Given the description of an element on the screen output the (x, y) to click on. 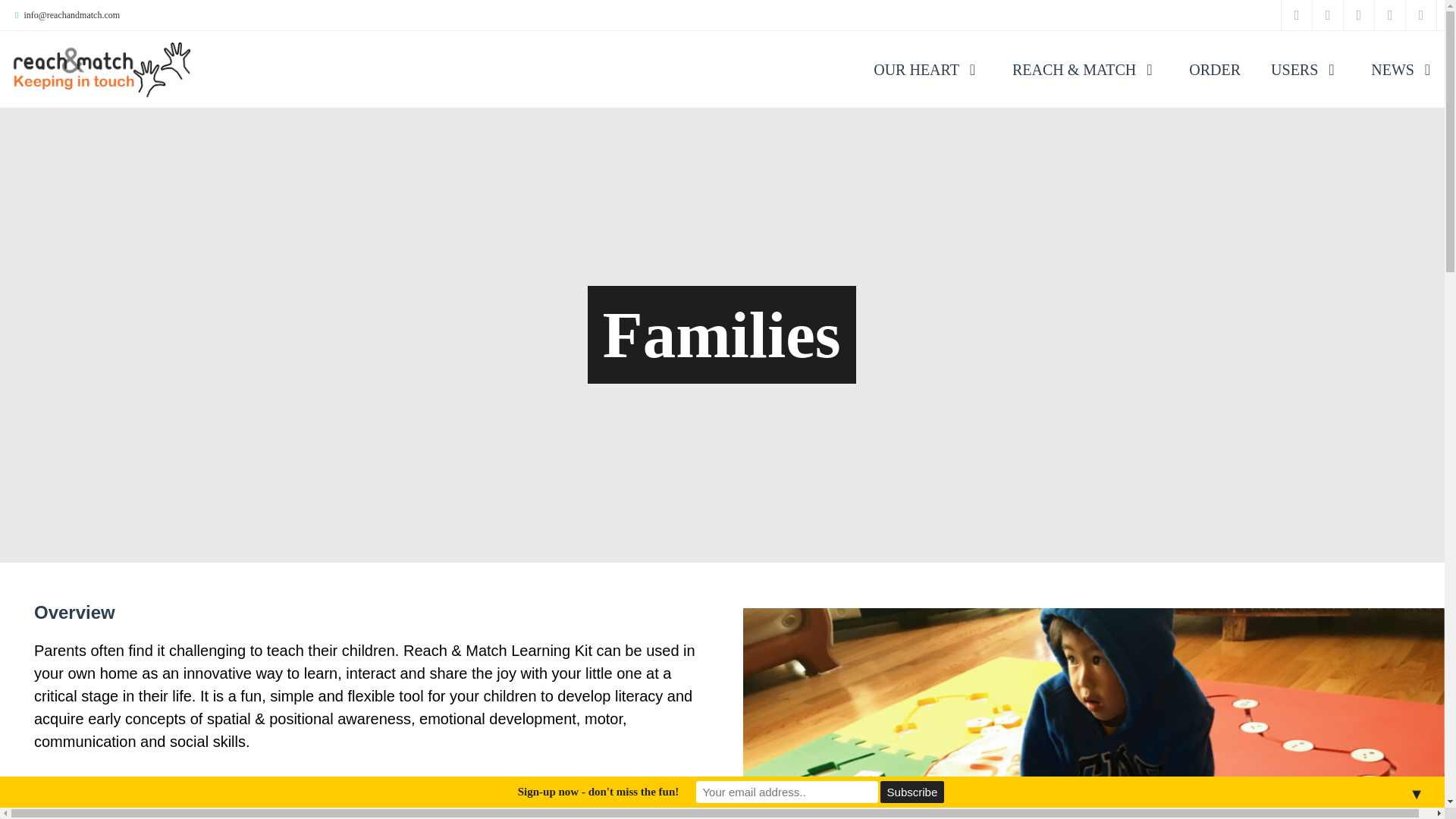
USERS (1305, 55)
Subscribe (911, 792)
OUR HEART (927, 55)
ORDER (1214, 55)
NEWS (1404, 55)
